Given the description of an element on the screen output the (x, y) to click on. 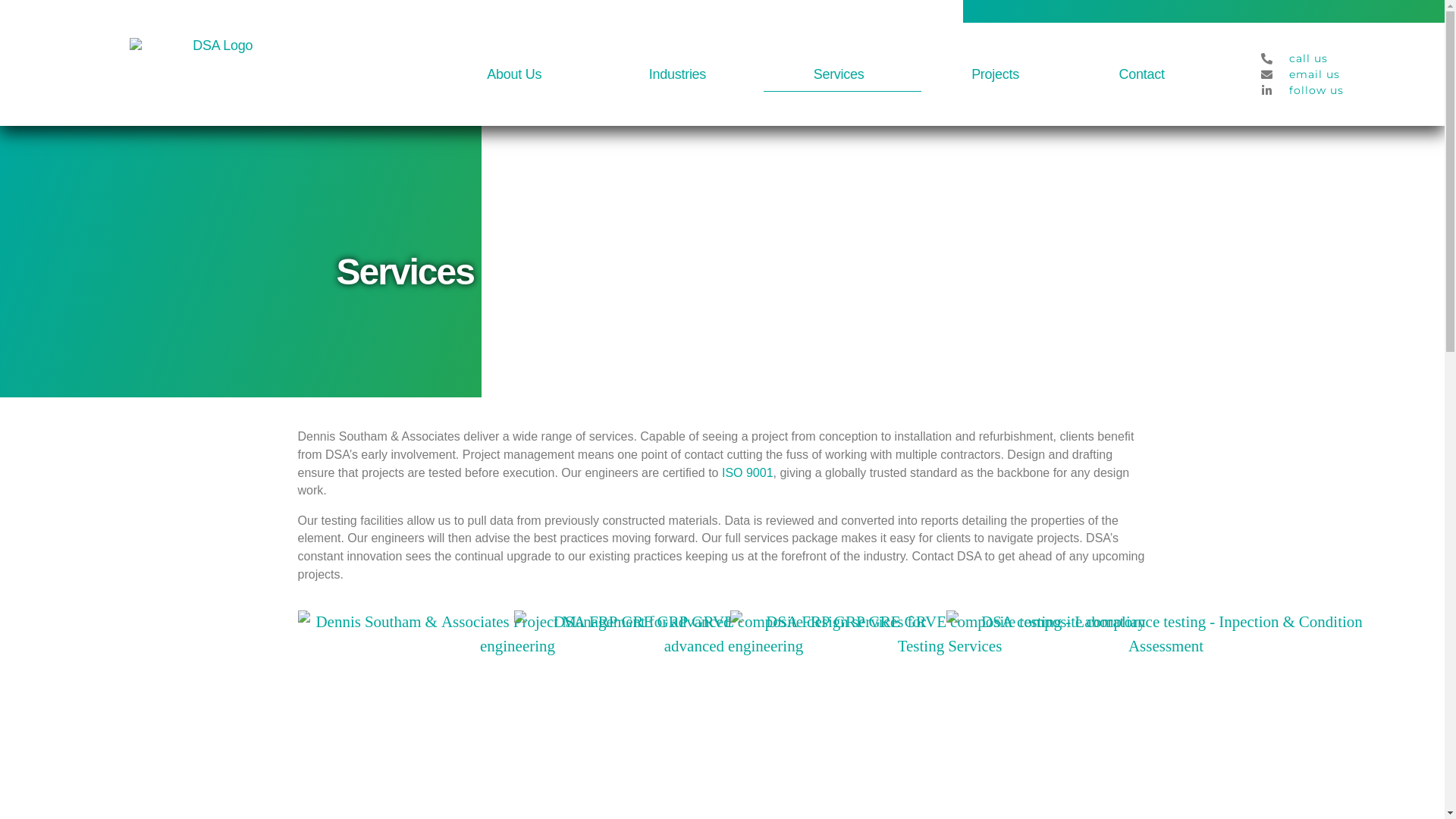
Projects Element type: text (994, 73)
ISO 9001 Element type: text (747, 472)
Services Element type: text (842, 73)
Contact Element type: text (1141, 73)
About Us Element type: text (517, 73)
call us Element type: text (1343, 58)
email us Element type: text (1343, 74)
follow us Element type: text (1343, 90)
Industries Element type: text (681, 73)
